Given the description of an element on the screen output the (x, y) to click on. 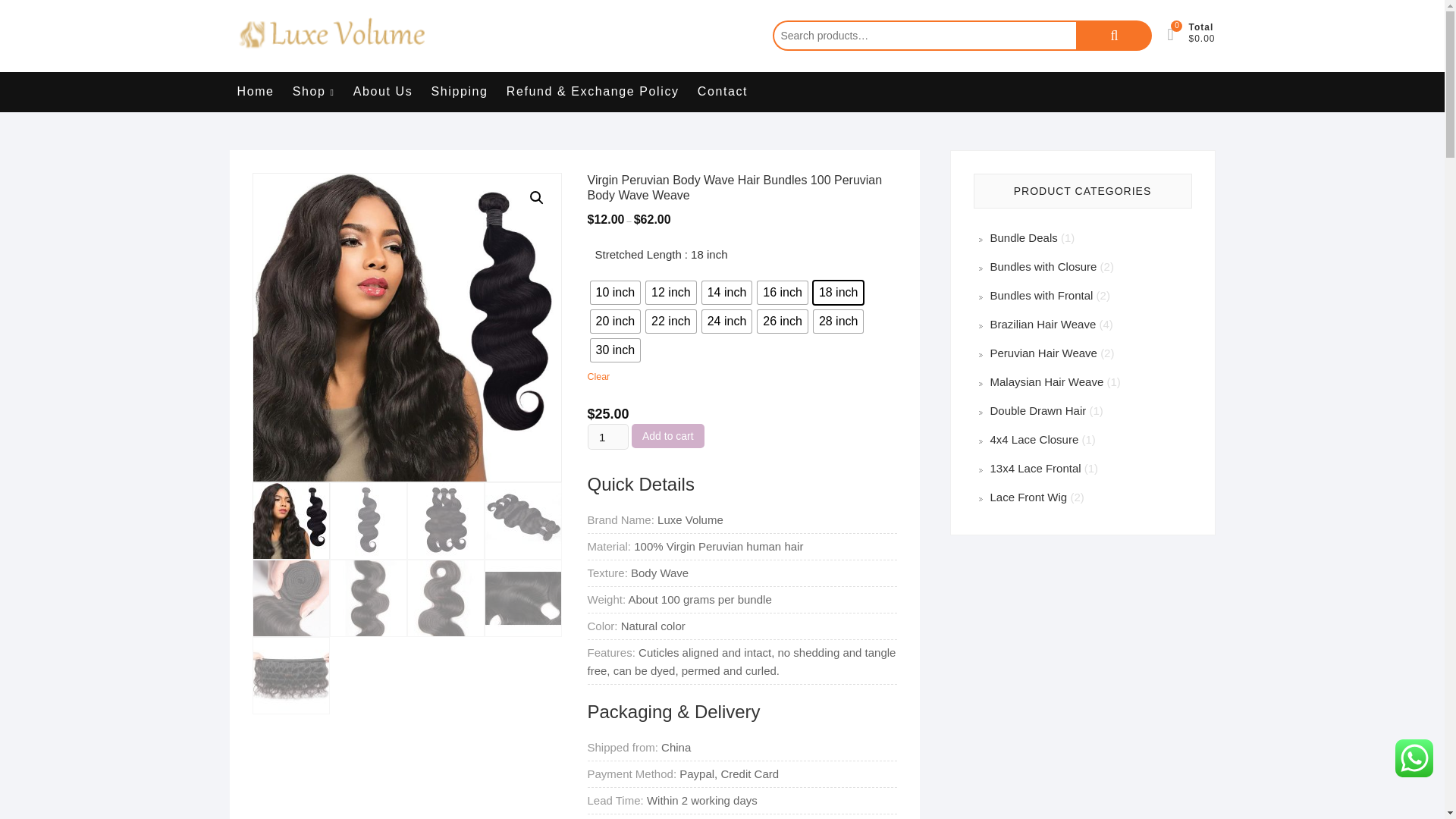
Clear (598, 376)
Shipping (459, 91)
16 inch (782, 292)
Shop (313, 91)
14 inch (726, 292)
Search (1113, 35)
1 (606, 436)
Contact (722, 91)
18 inch (838, 292)
Body-Wave-Bundles-1 (405, 327)
